Given the description of an element on the screen output the (x, y) to click on. 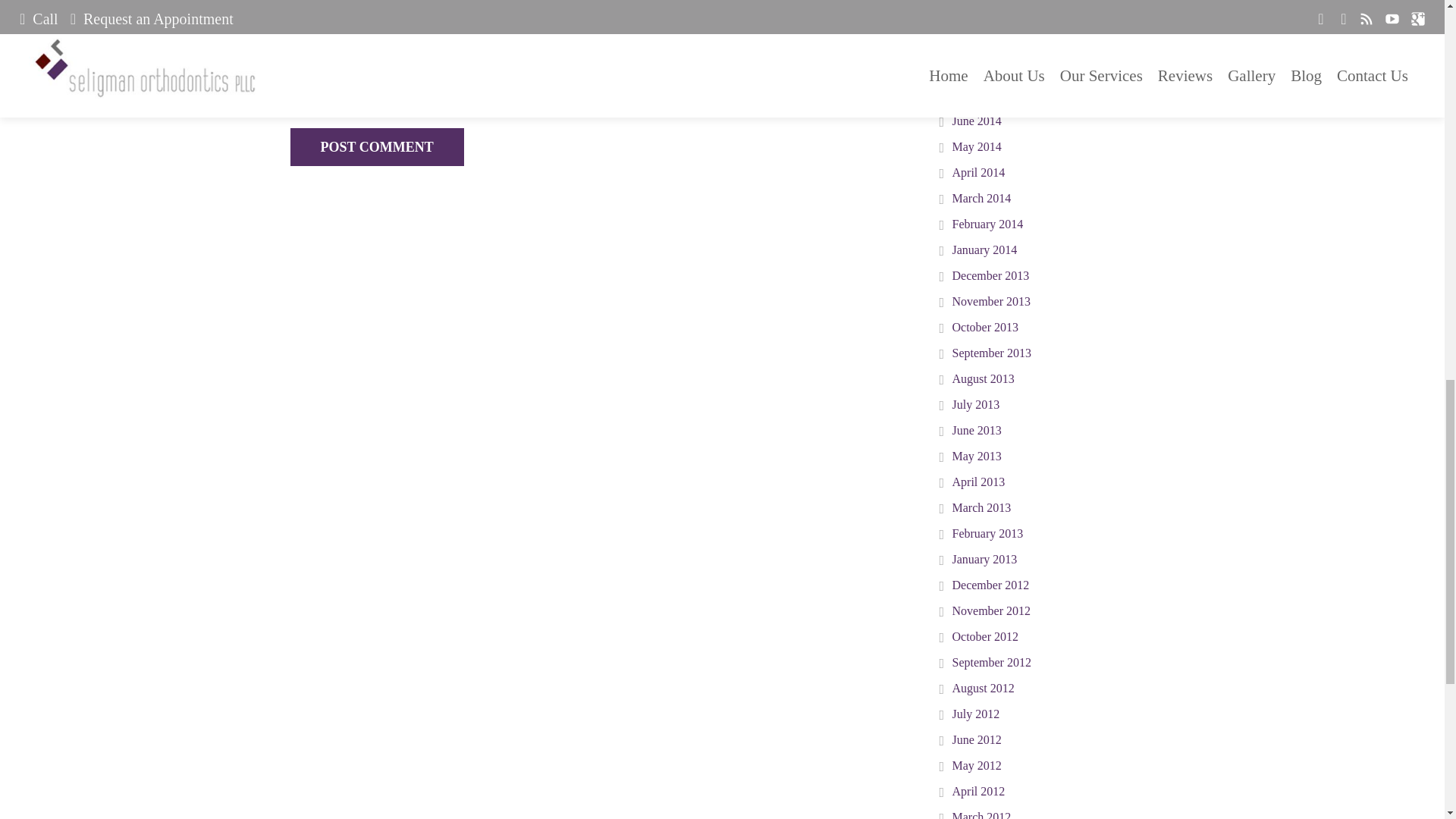
yes (294, 74)
Post Comment (376, 146)
Post Comment (376, 146)
